Given the description of an element on the screen output the (x, y) to click on. 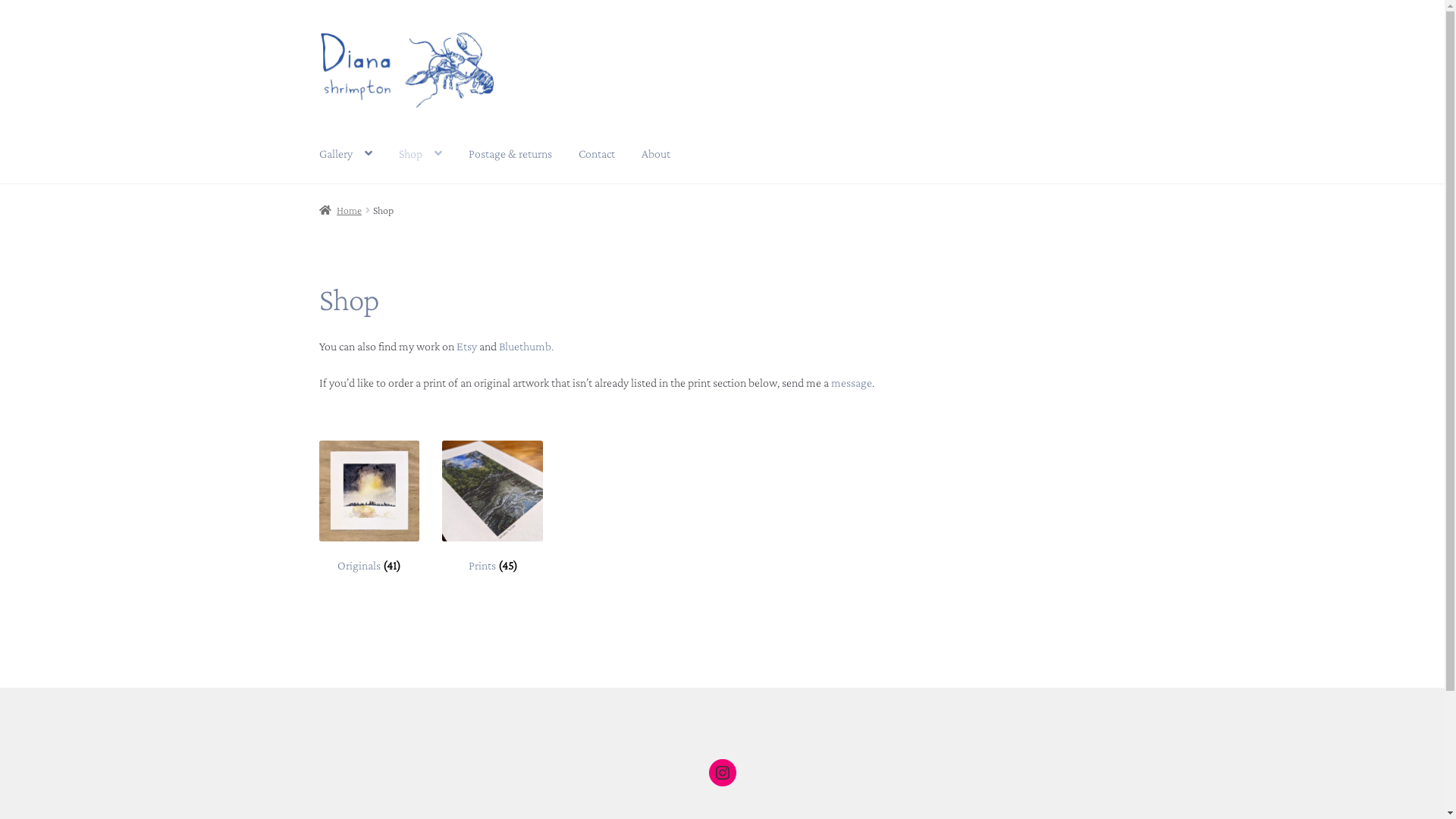
Shop Element type: text (420, 154)
About Element type: text (655, 154)
Skip to navigation Element type: text (318, 31)
message Element type: text (851, 382)
Home Element type: text (340, 209)
Bluethumb. Element type: text (525, 345)
Contact Element type: text (596, 154)
Originals (41) Element type: text (369, 506)
Prints (45) Element type: text (492, 506)
Etsy Element type: text (467, 345)
Gallery Element type: text (345, 154)
Postage & returns Element type: text (510, 154)
Instagram Element type: text (721, 772)
